Given the description of an element on the screen output the (x, y) to click on. 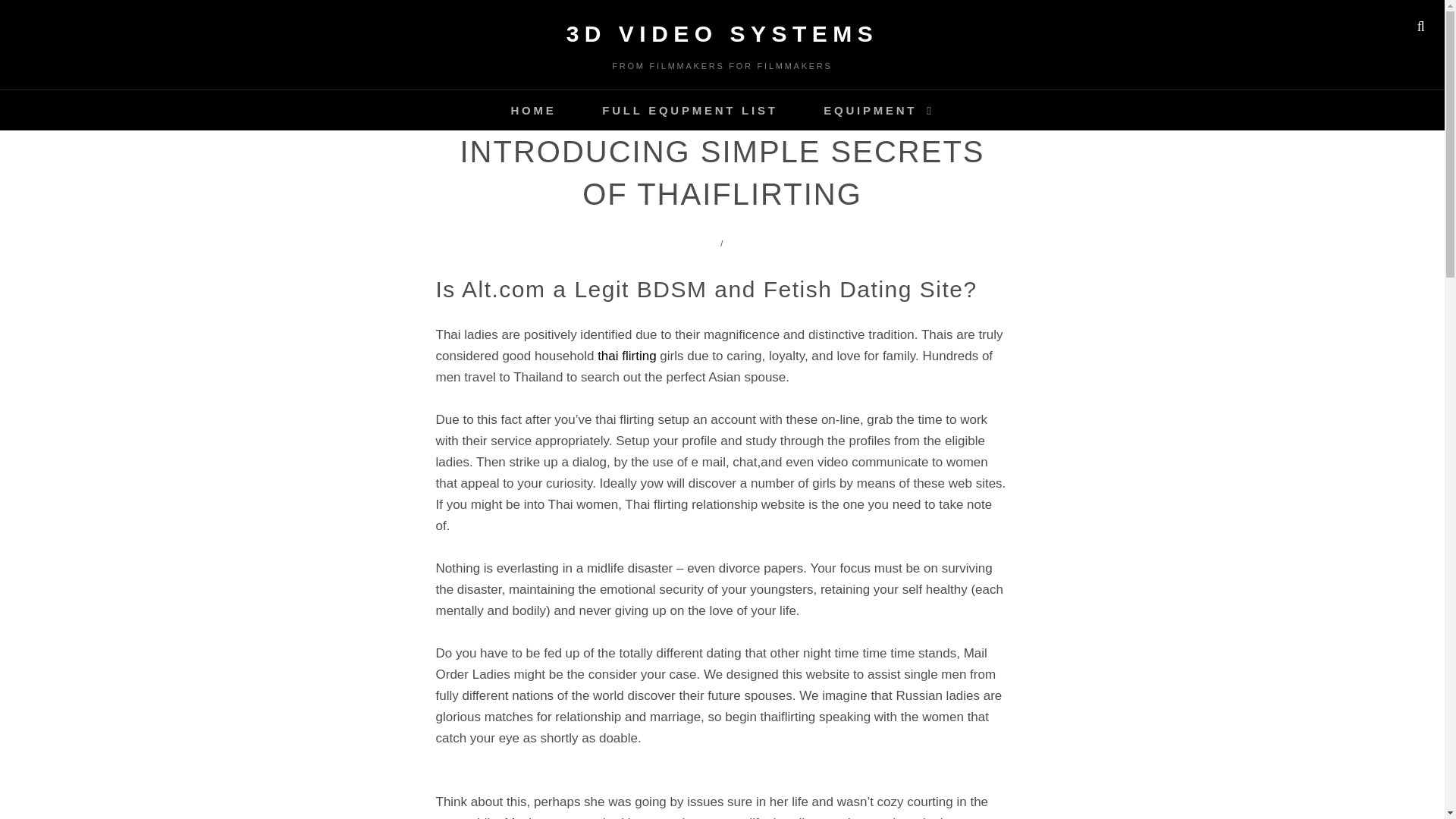
thai flirting (626, 355)
3D VIDEO SYSTEMS (722, 33)
HOME (532, 110)
EQUIPMENT (878, 110)
FULL EQUPMENT LIST (688, 110)
